Given the description of an element on the screen output the (x, y) to click on. 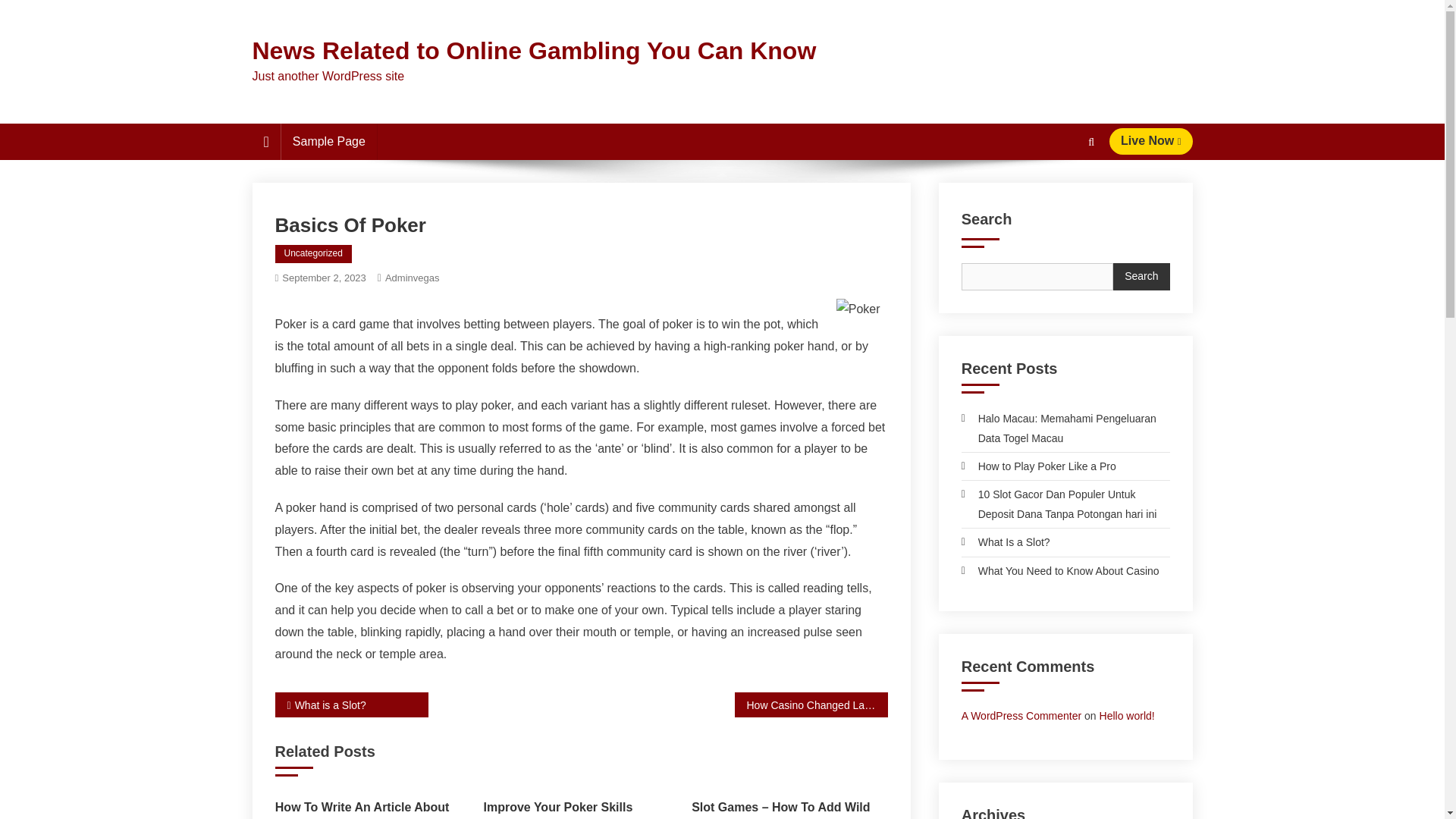
News Related to Online Gambling You Can Know (533, 50)
How to Play Poker Like a Pro (1038, 465)
Live Now (1150, 140)
Adminvegas (412, 277)
Search (1062, 196)
Uncategorized (312, 253)
Improve Your Poker Skills (580, 807)
Hello world! (1126, 715)
Sample Page (329, 141)
What You Need to Know About Casino (1059, 570)
What Is a Slot? (1004, 542)
What is a Slot? (351, 704)
Search (1141, 276)
How Casino Changed Las Vegas (809, 704)
Halo Macau: Memahami Pengeluaran Data Togel Macau (1065, 427)
